Given the description of an element on the screen output the (x, y) to click on. 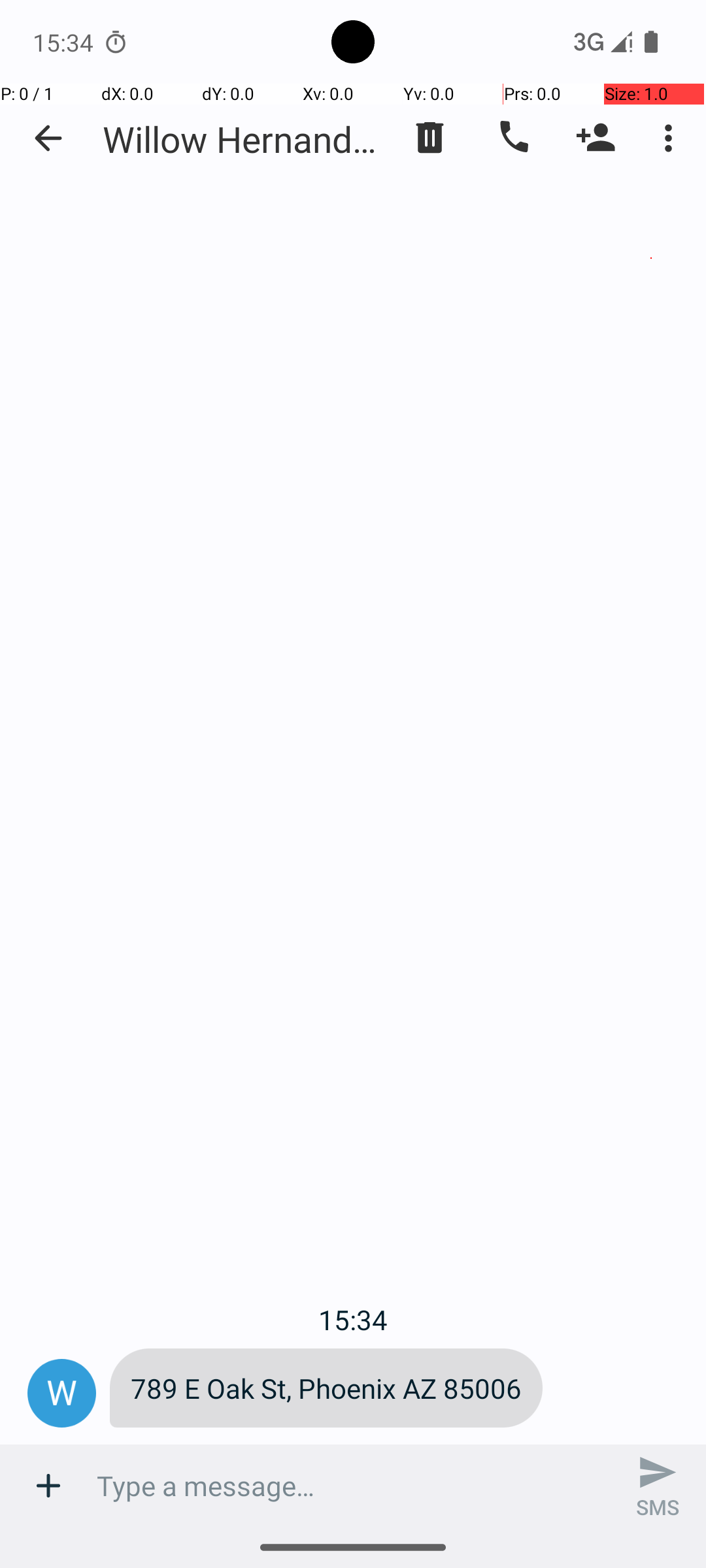
Willow Hernandez Element type: android.widget.TextView (241, 138)
789 E Oak St, Phoenix AZ 85006 Element type: android.widget.TextView (325, 1387)
